Given the description of an element on the screen output the (x, y) to click on. 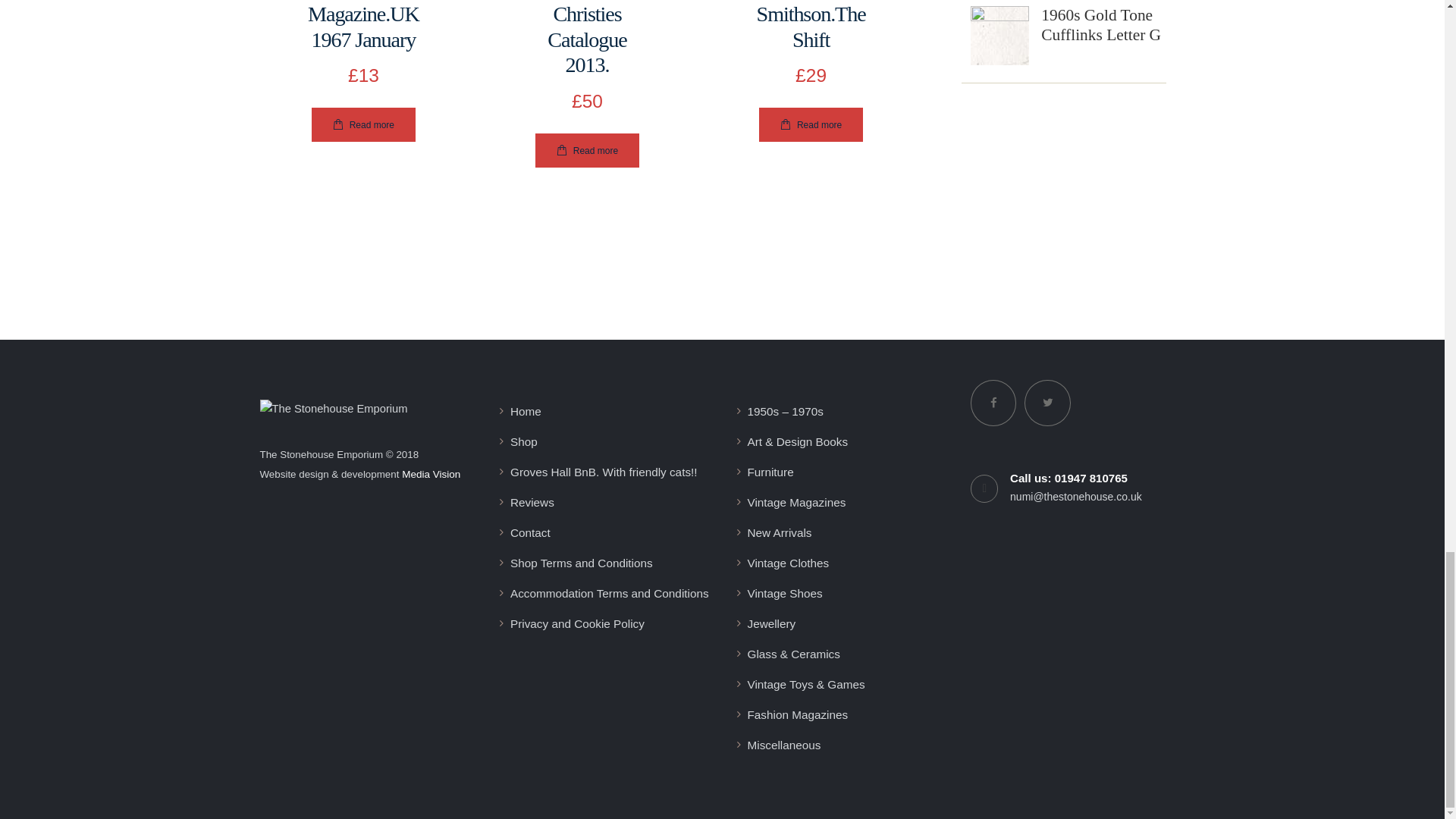
Northern Architect Magazine.UK 1967 January (362, 26)
Read more (587, 150)
The Stonehouse Emporium (333, 408)
When Britain Went Pop.Rare Christies Catalogue 2013. (587, 39)
Read more (362, 124)
